Given the description of an element on the screen output the (x, y) to click on. 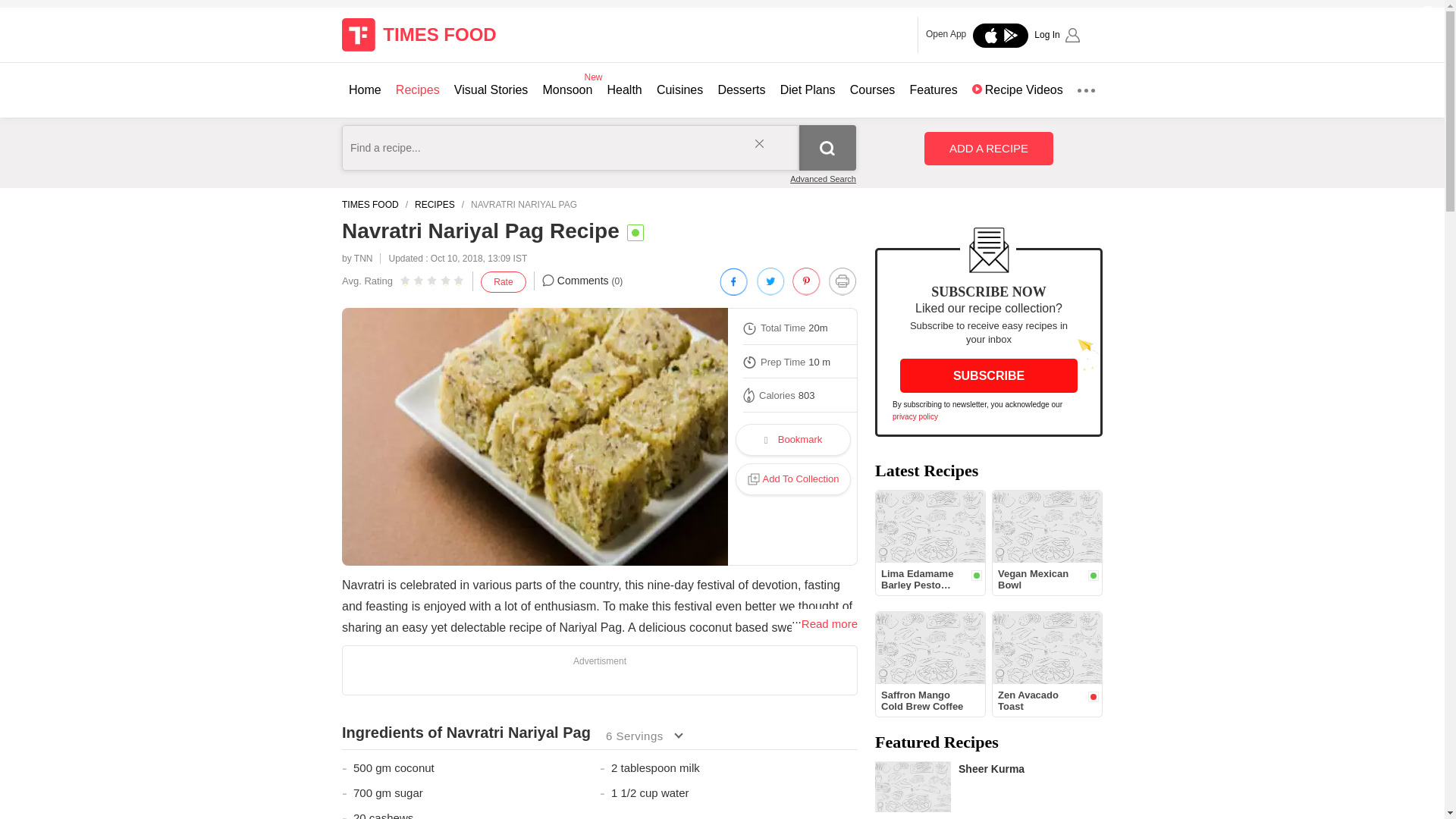
Recipes (417, 89)
Home (365, 89)
Navratri Nariyal Pag (535, 436)
Log In (1056, 34)
TIMES FOOD (430, 34)
